Given the description of an element on the screen output the (x, y) to click on. 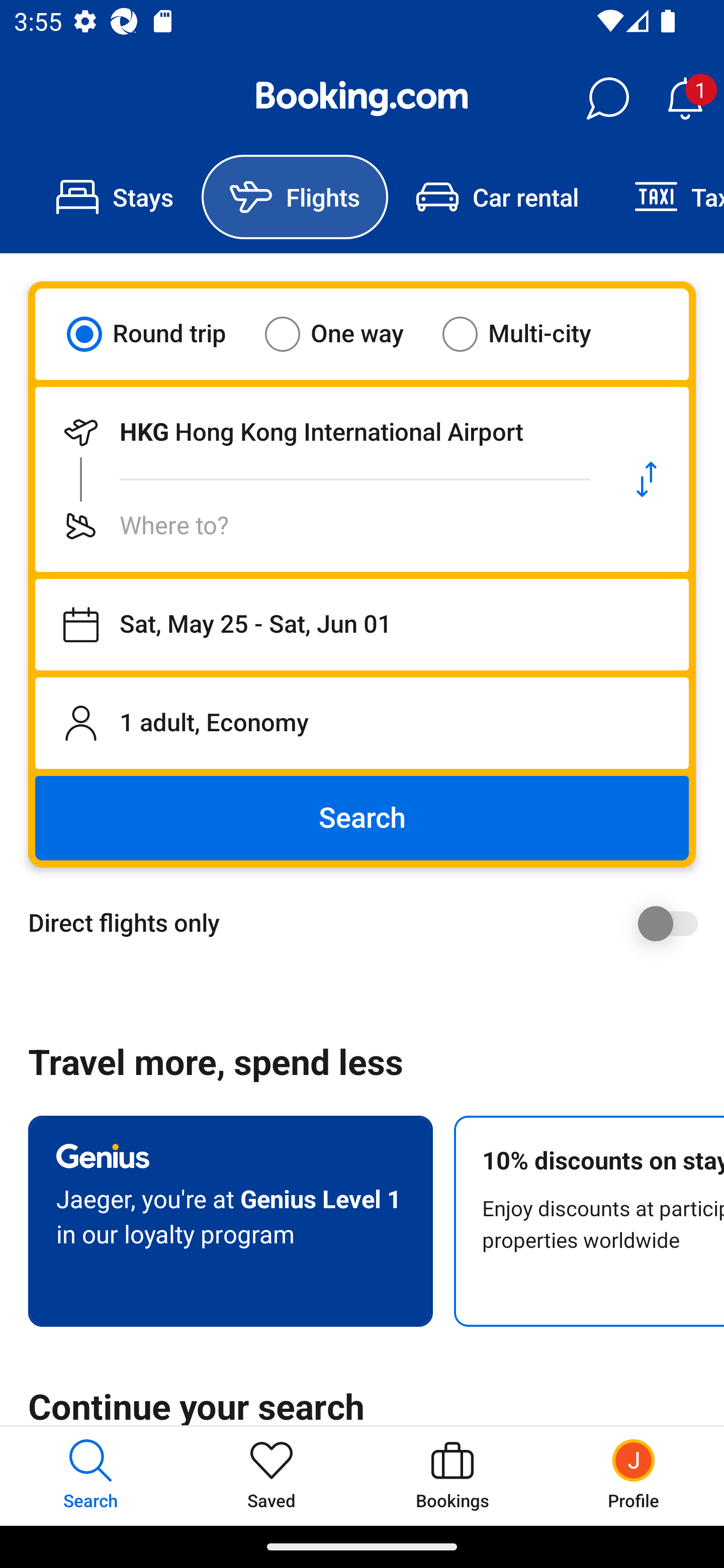
Messages (607, 98)
Notifications (685, 98)
Stays (114, 197)
Flights (294, 197)
Car rental (497, 197)
Taxi (665, 197)
One way (346, 333)
Multi-city (528, 333)
Departing from HKG Hong Kong International Airport (319, 432)
Swap departure location and destination (646, 479)
Flying to  (319, 525)
Departing on Sat, May 25, returning on Sat, Jun 01 (361, 624)
1 adult, Economy (361, 722)
Search (361, 818)
Direct flights only (369, 923)
Saved (271, 1475)
Bookings (452, 1475)
Profile (633, 1475)
